Given the description of an element on the screen output the (x, y) to click on. 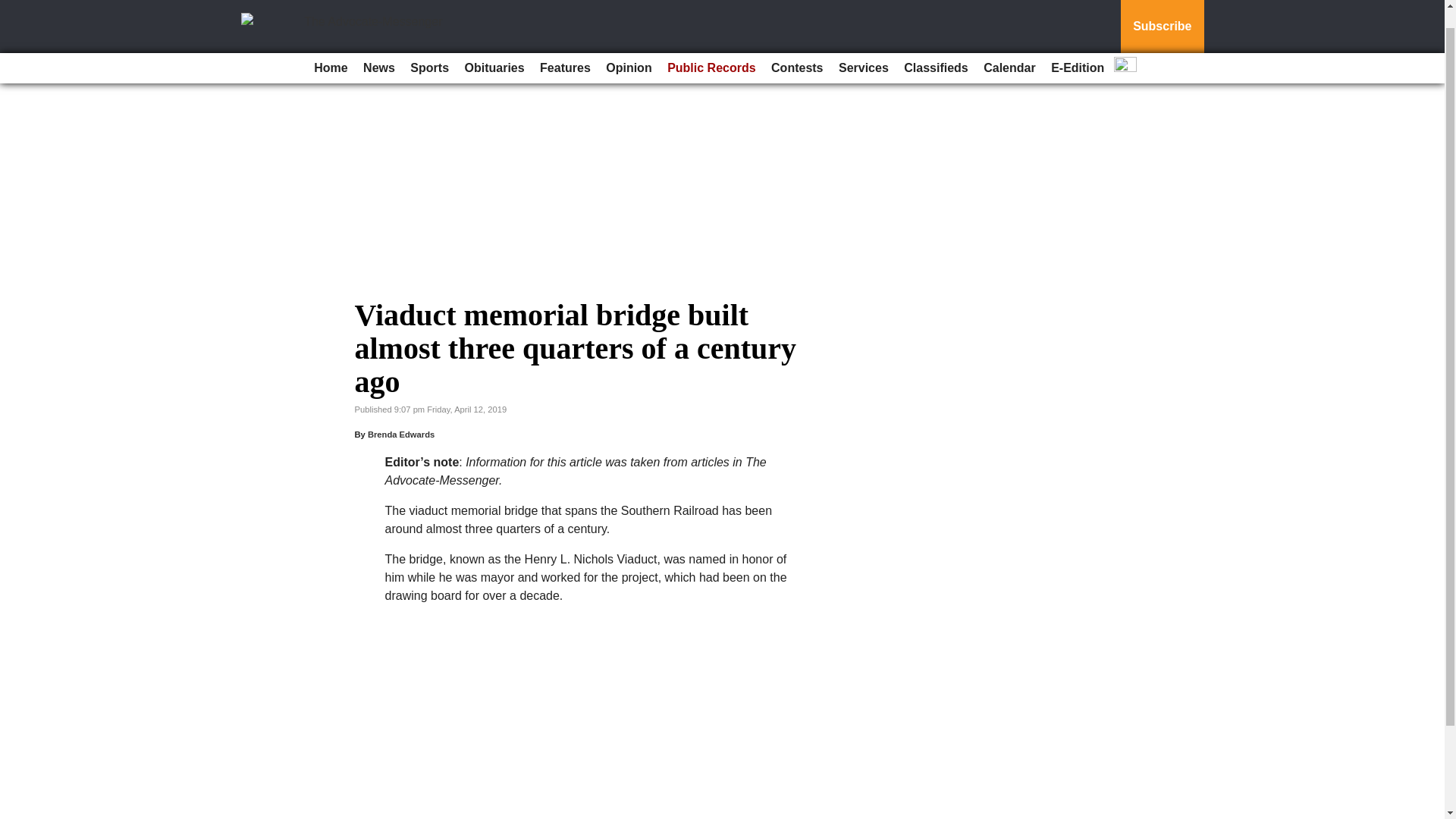
Contests (796, 47)
Brenda Edwards (400, 433)
Public Records (711, 47)
Sports (429, 47)
Opinion (628, 47)
Subscribe (1162, 16)
Obituaries (493, 47)
Features (565, 47)
News (378, 47)
Classifieds (936, 47)
E-Edition (1077, 47)
Services (863, 47)
Calendar (1008, 47)
Home (330, 47)
